Given the description of an element on the screen output the (x, y) to click on. 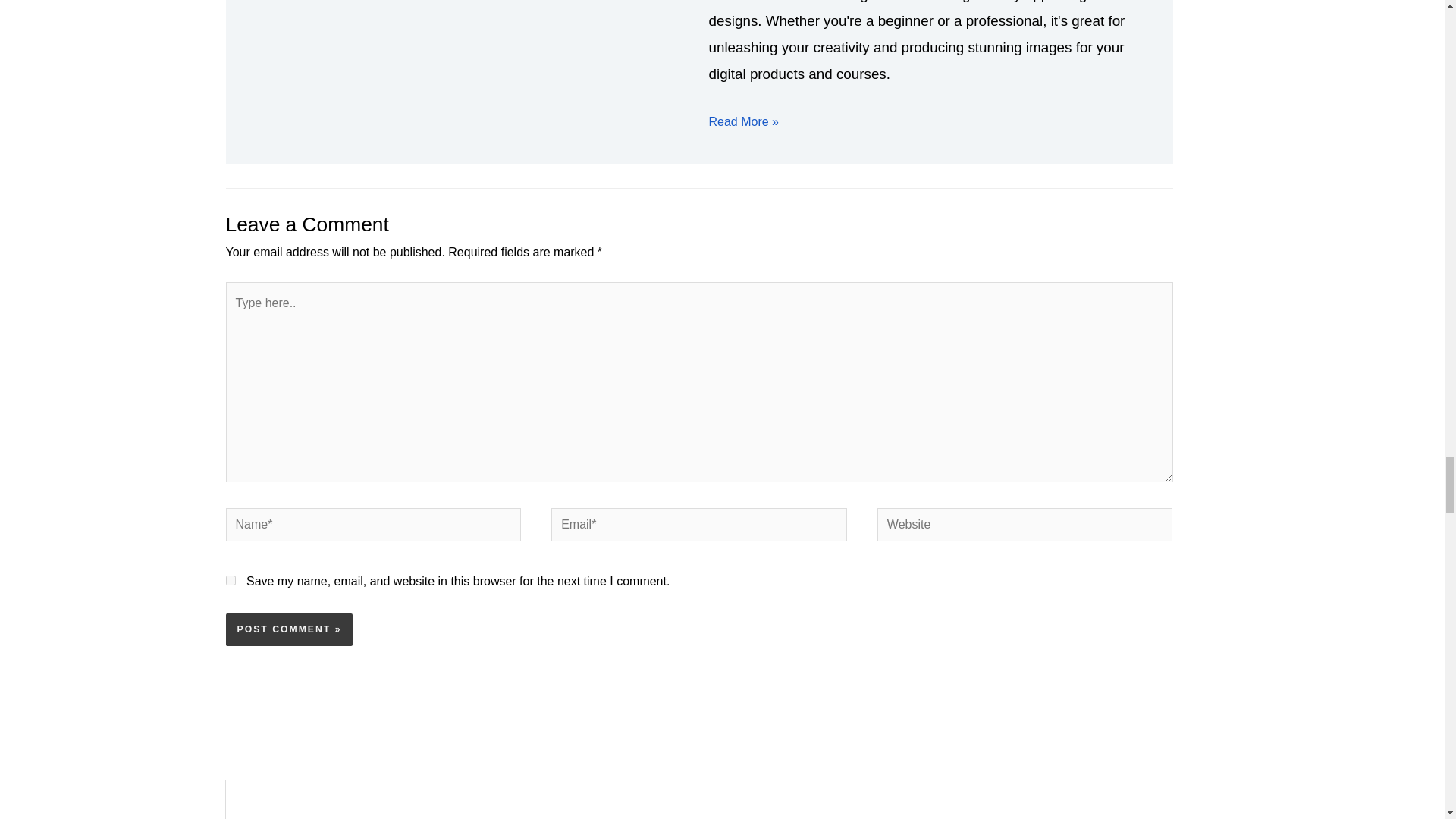
yes (230, 580)
